Given the description of an element on the screen output the (x, y) to click on. 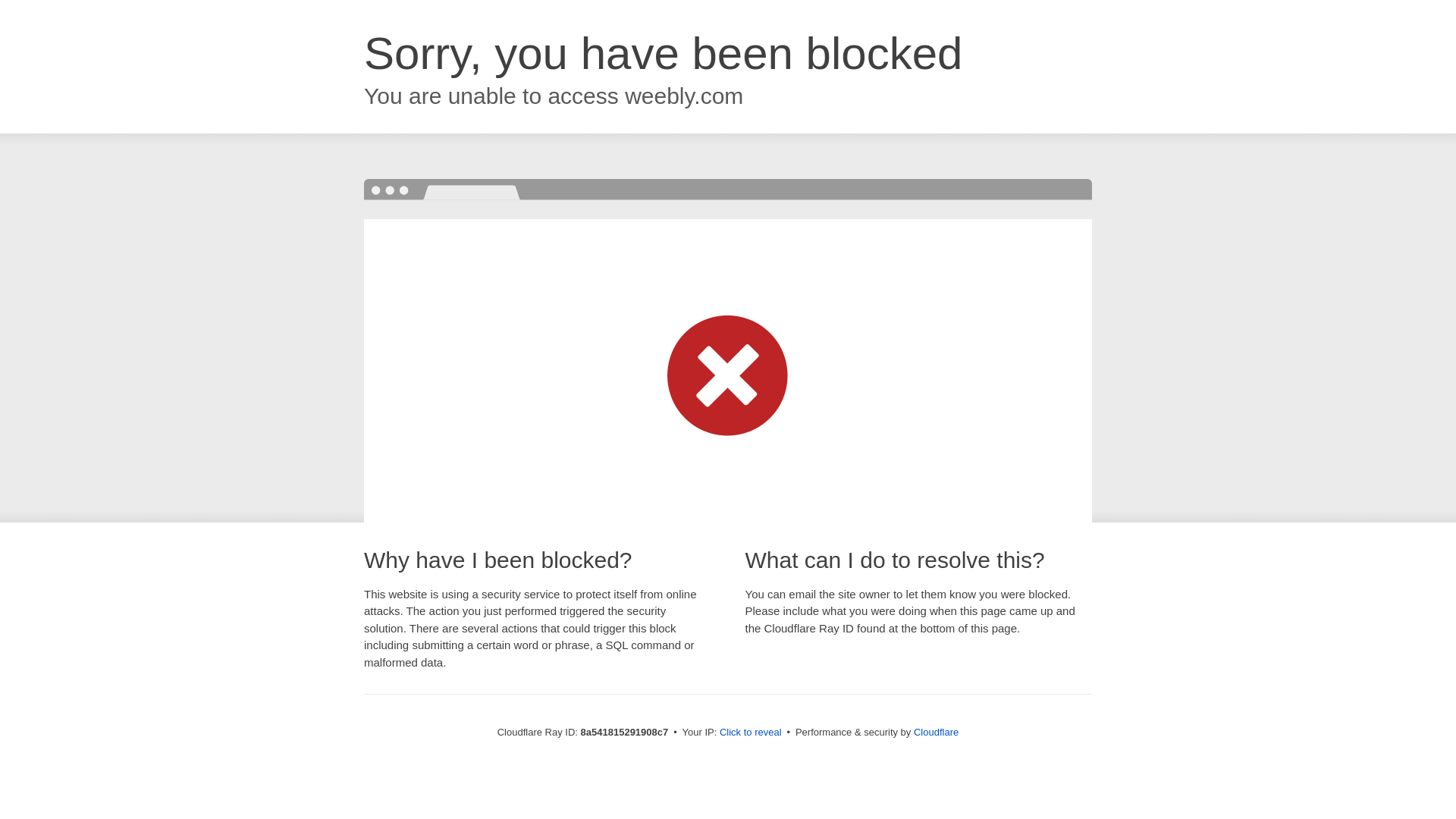
Click to reveal (750, 732)
Cloudflare (936, 731)
